Given the description of an element on the screen output the (x, y) to click on. 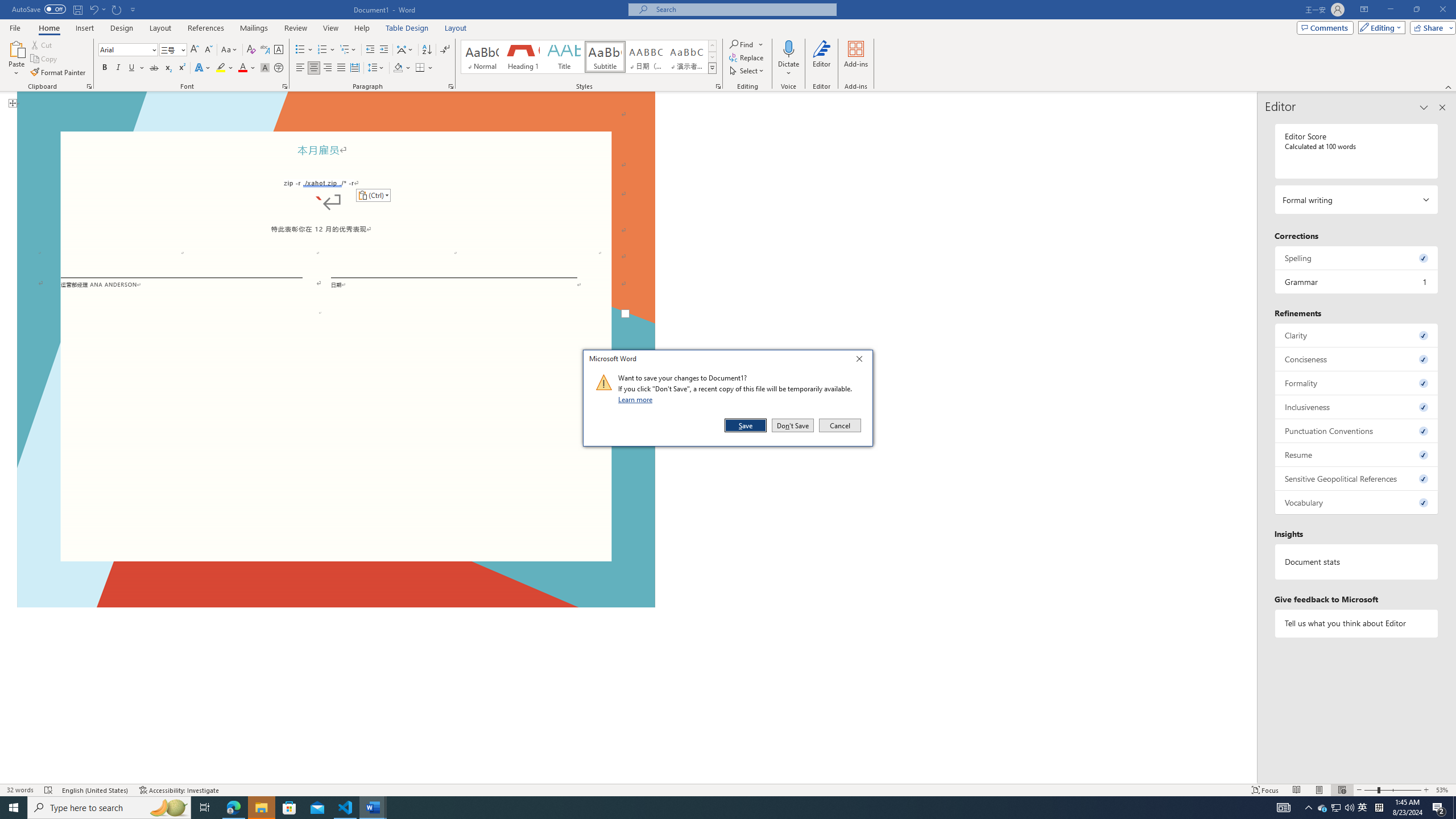
Distributed (354, 67)
Bullets (304, 49)
Strikethrough (154, 67)
Font (124, 49)
Cut (42, 44)
Change Case (229, 49)
Line and Paragraph Spacing (376, 67)
Phonetic Guide... (264, 49)
Align Right (327, 67)
Insert (83, 28)
Comments (1325, 27)
Sort... (426, 49)
More Options (788, 68)
